Given the description of an element on the screen output the (x, y) to click on. 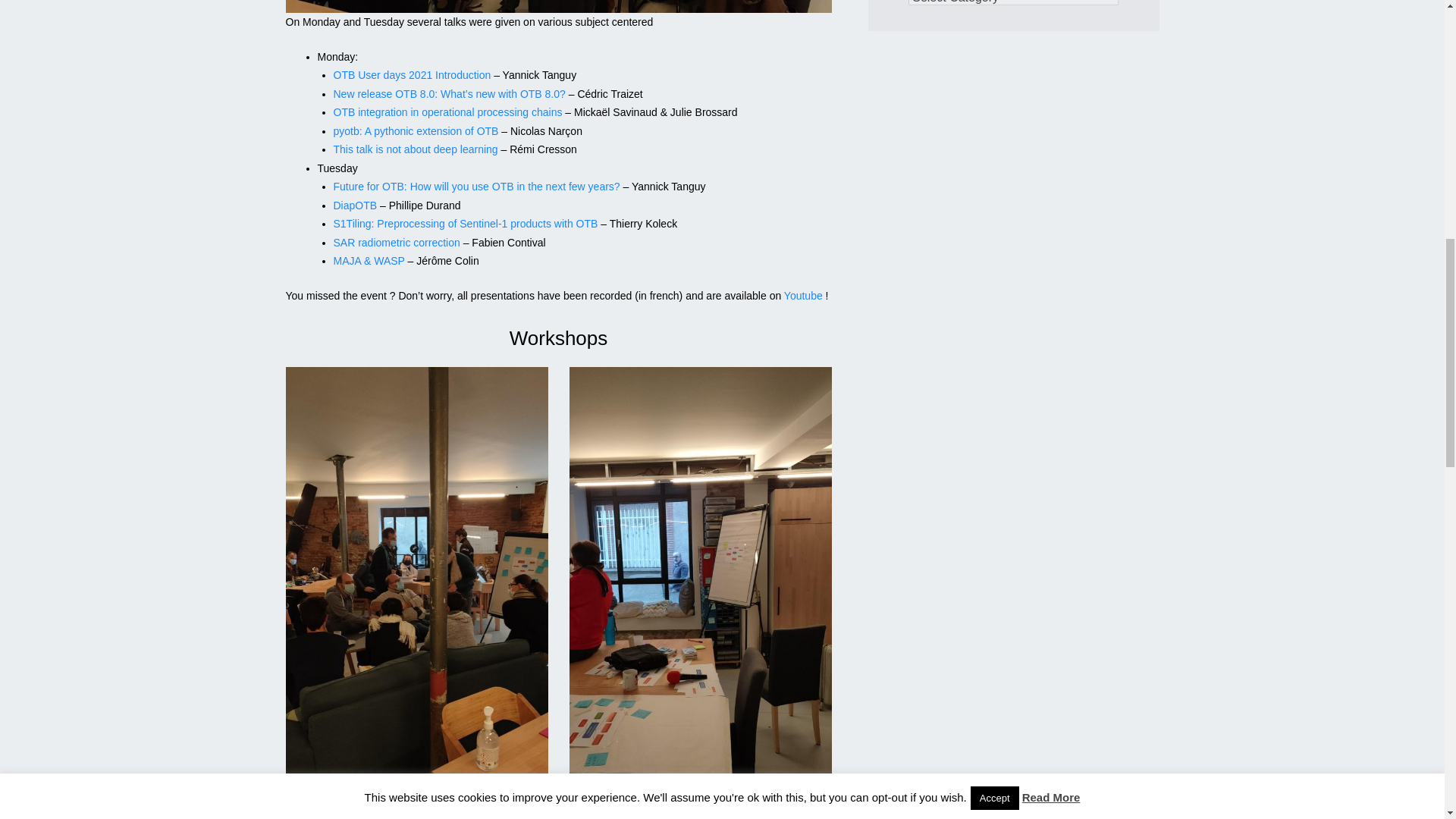
DiapOTB (355, 205)
Youtube (803, 295)
pyotb: A pythonic extension of OTB (416, 131)
S1Tiling: Preprocessing of Sentinel-1 products with OTB (465, 223)
OTB User days 2021 Introduction (412, 74)
SAR radiometric correction (396, 242)
OTB integration in operational processing chains (447, 111)
Future for OTB: How will you use OTB in the next few years? (476, 186)
This talk is not about deep learning (415, 149)
